Given the description of an element on the screen output the (x, y) to click on. 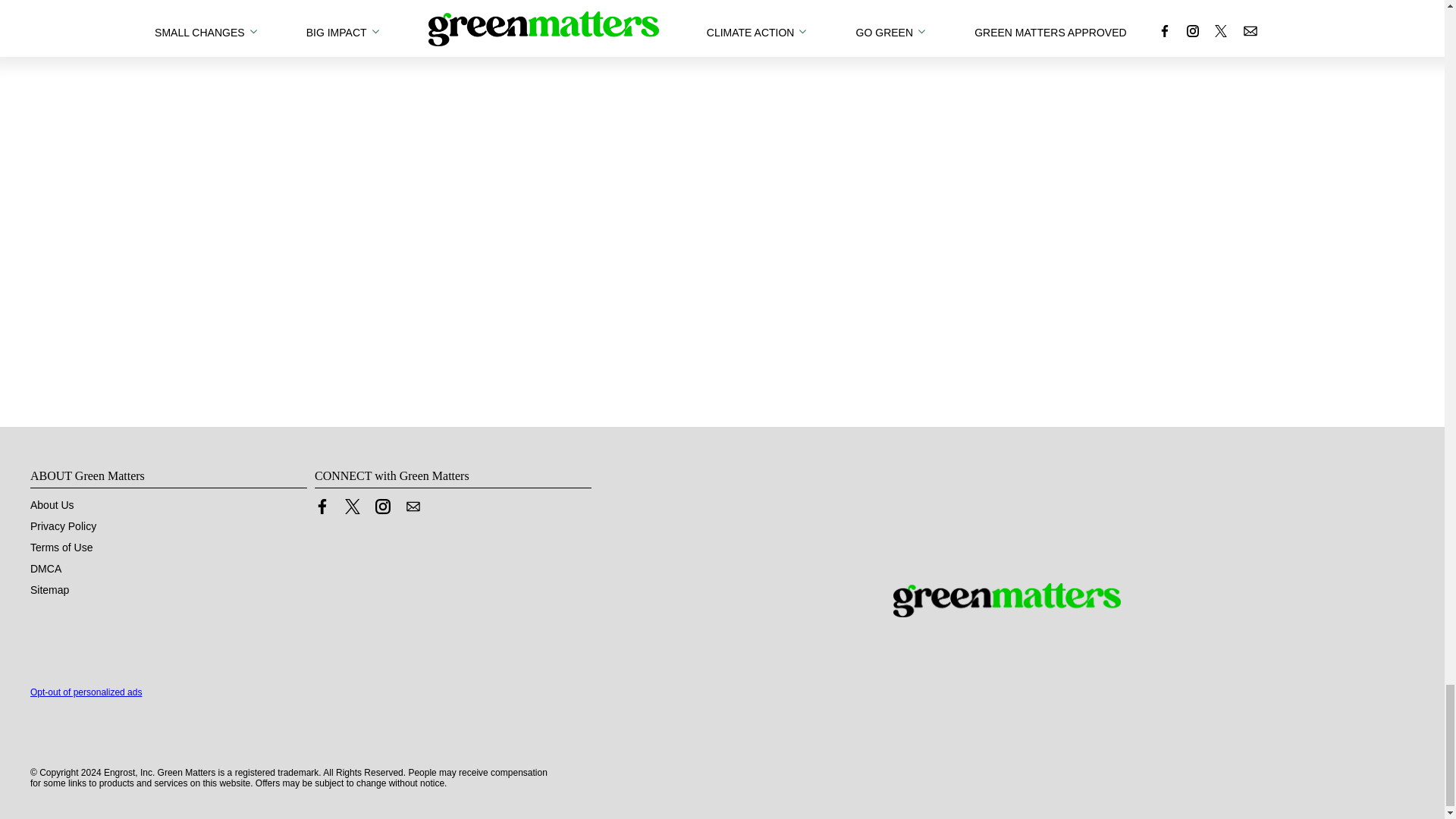
Link to Instagram (382, 506)
DMCA (45, 568)
Contact us by Email (413, 506)
Link to Facebook (322, 506)
Link to X (352, 506)
Sitemap (49, 589)
About Us (52, 504)
Terms of Use (61, 547)
Privacy Policy (63, 526)
